Given the description of an element on the screen output the (x, y) to click on. 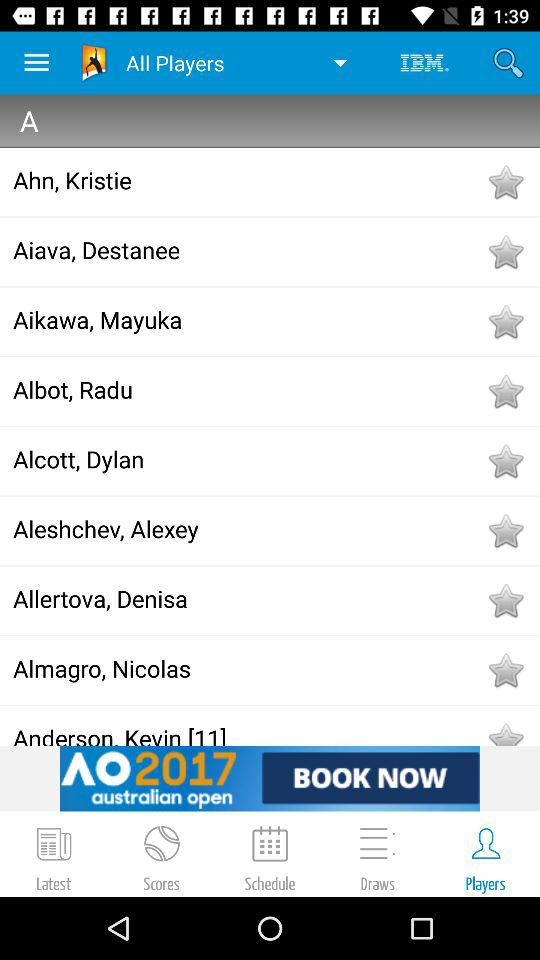
add to favorites (505, 600)
